Given the description of an element on the screen output the (x, y) to click on. 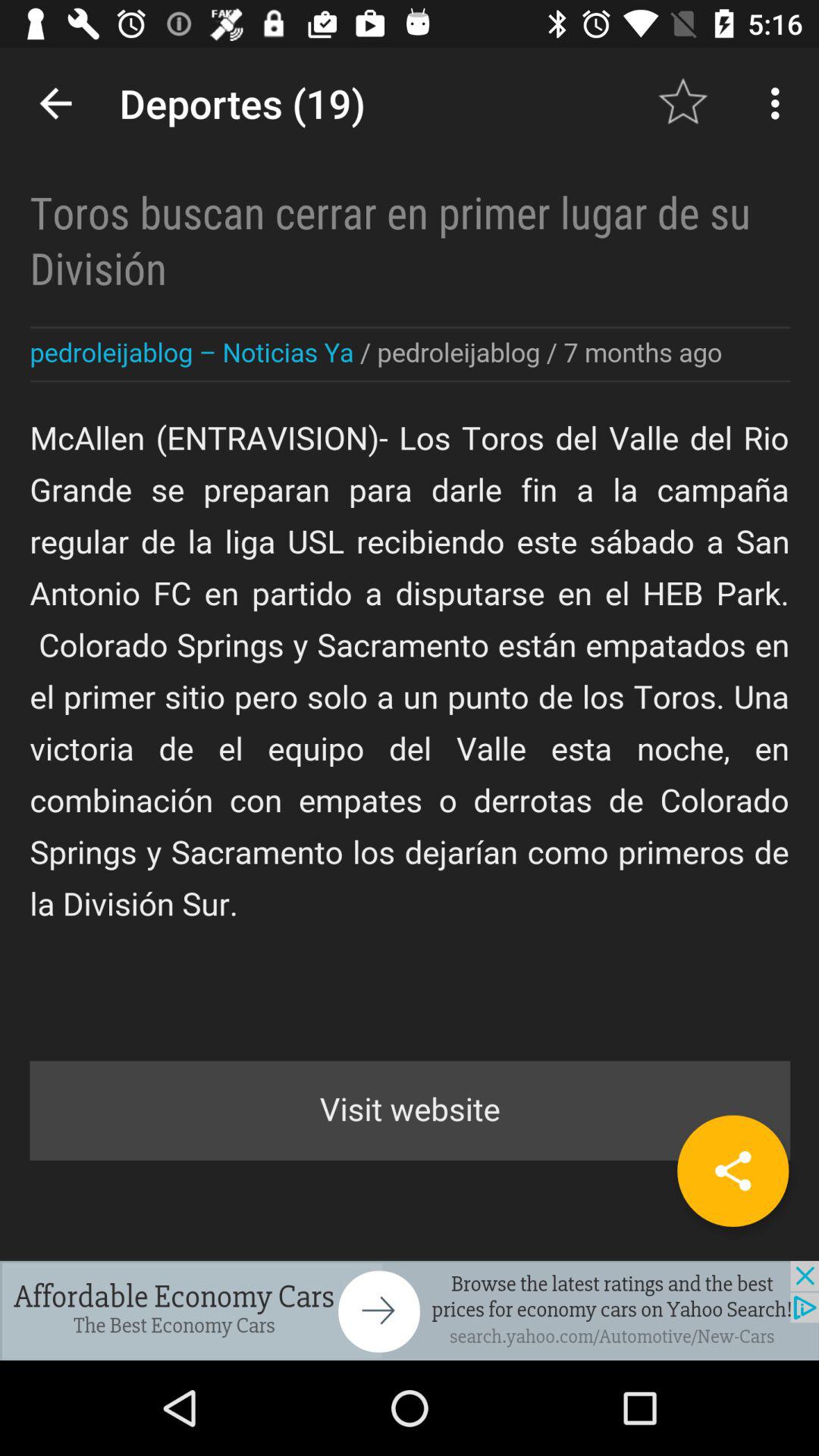
select advertisement (409, 1310)
